Given the description of an element on the screen output the (x, y) to click on. 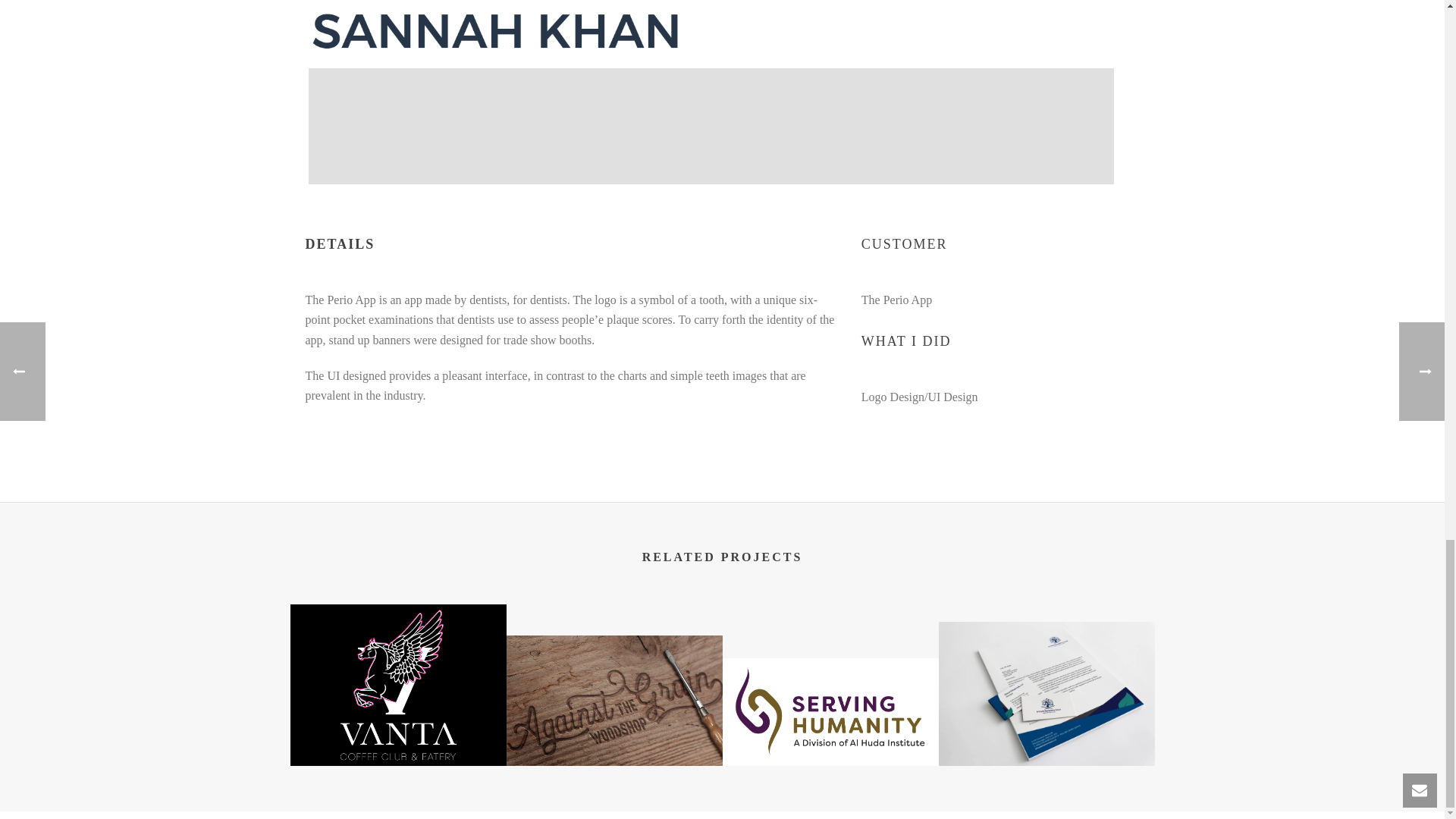
Serving Humanity Logo (829, 711)
Al Huda Elementary Corporate Identity (1046, 693)
Against the Grain Woodshop (614, 700)
